Given the description of an element on the screen output the (x, y) to click on. 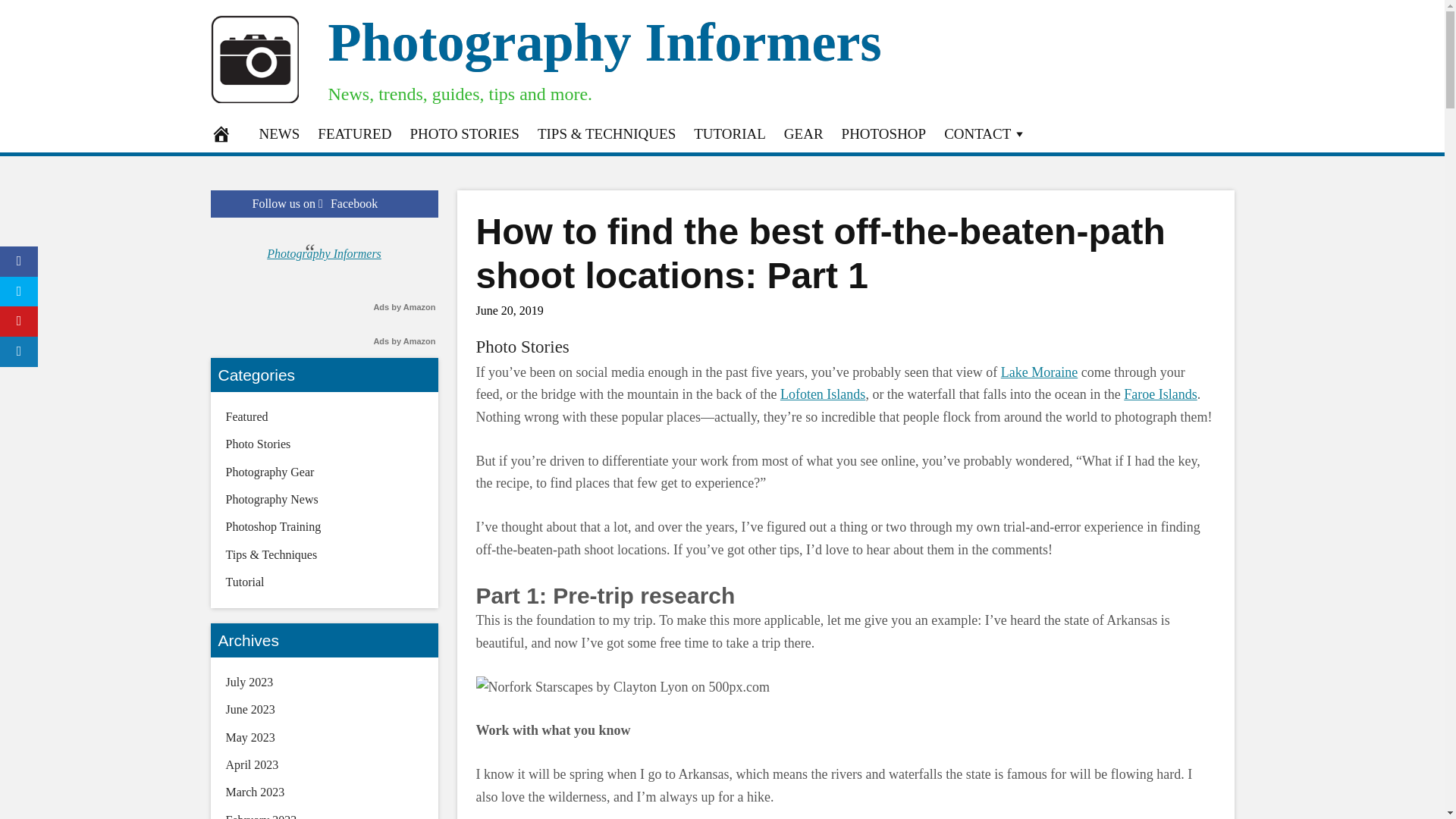
Photo Stories (522, 346)
CONTACT (984, 133)
PHOTOSHOP (884, 133)
TUTORIAL (729, 133)
GEAR (803, 133)
FEATURED (354, 133)
Photo Stories (522, 346)
NEWS (279, 133)
PHOTO STORIES (463, 133)
Photography Informers (603, 42)
